Given the description of an element on the screen output the (x, y) to click on. 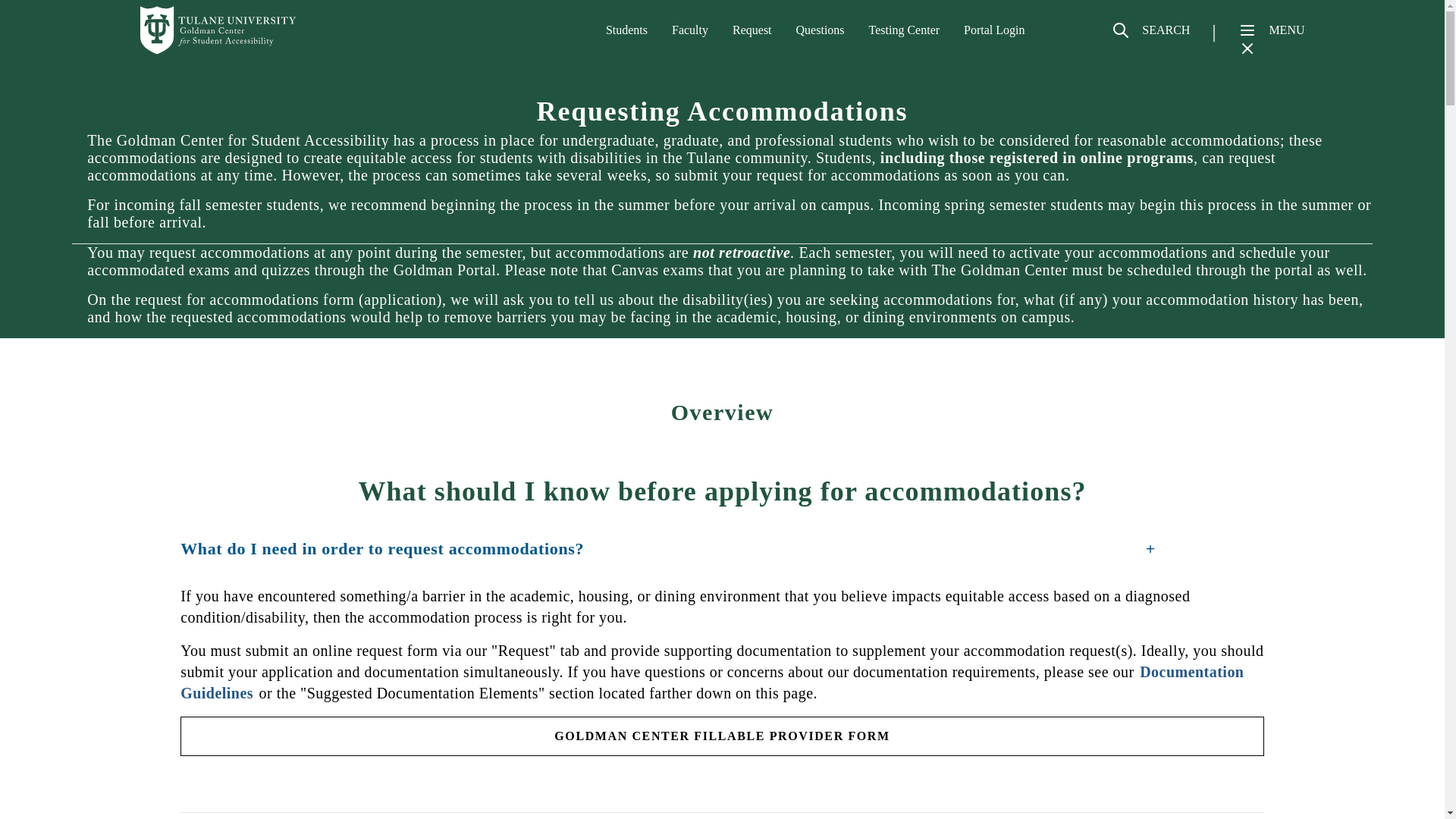
SEARCH (1150, 36)
Home (218, 29)
Questions (820, 29)
Request (751, 29)
Portal Login (994, 29)
Testing Center (904, 29)
Faculty (689, 29)
Students (626, 29)
